Given the description of an element on the screen output the (x, y) to click on. 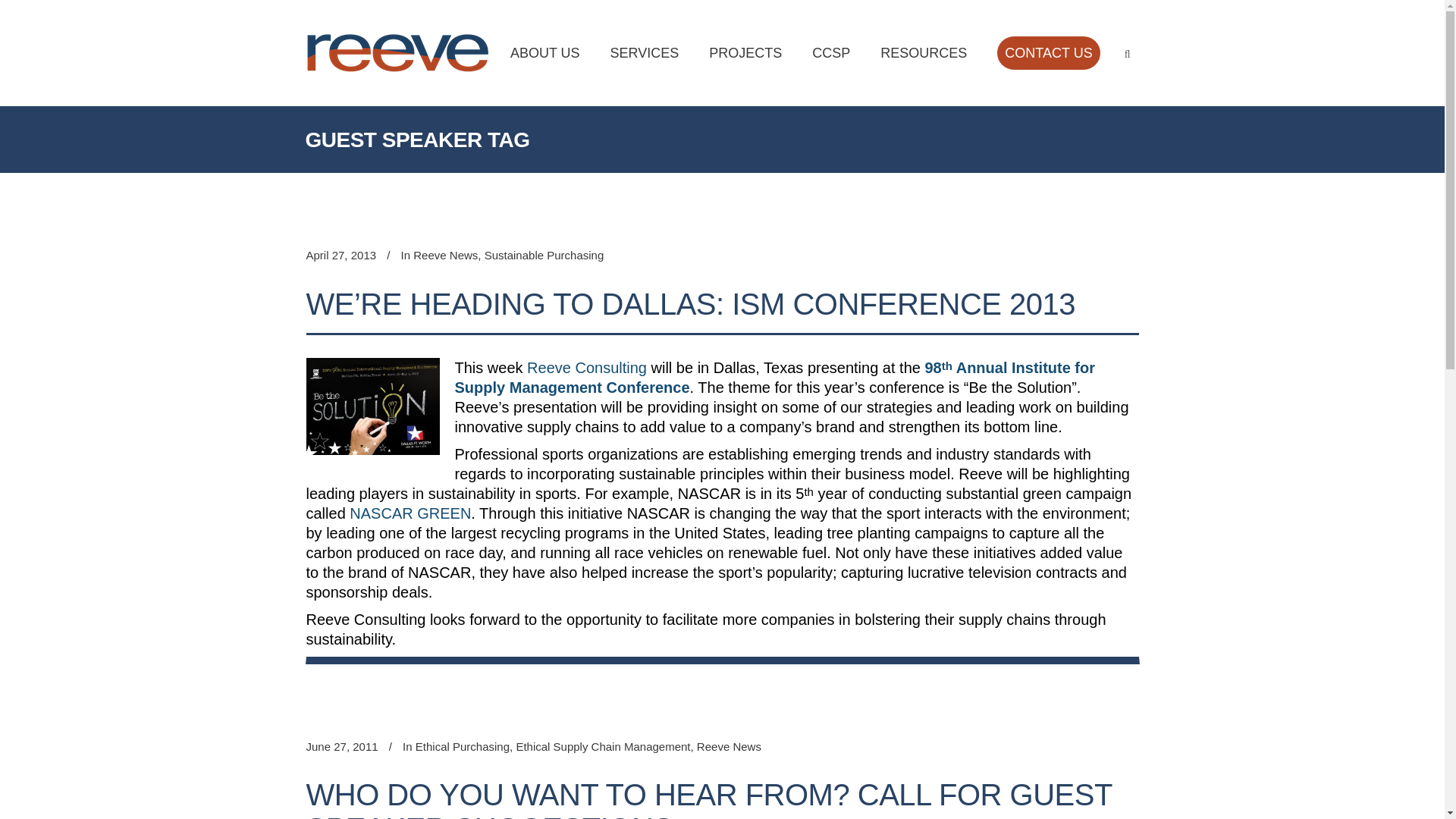
RESOURCES (922, 53)
SERVICES (644, 53)
ABOUT US (545, 53)
CONTACT US (1048, 53)
PROJECTS (745, 53)
